Given the description of an element on the screen output the (x, y) to click on. 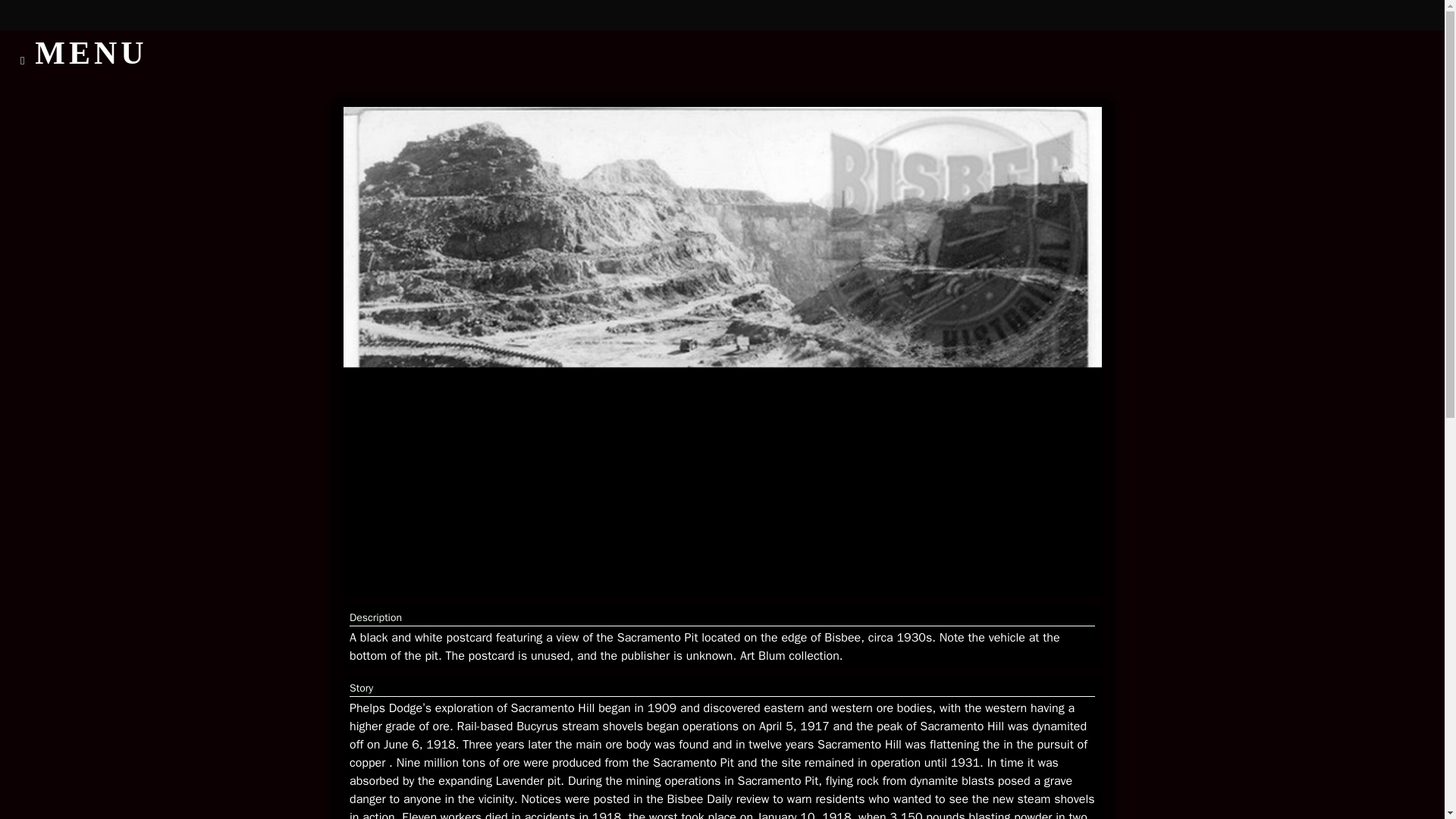
MENU (81, 56)
